Given the description of an element on the screen output the (x, y) to click on. 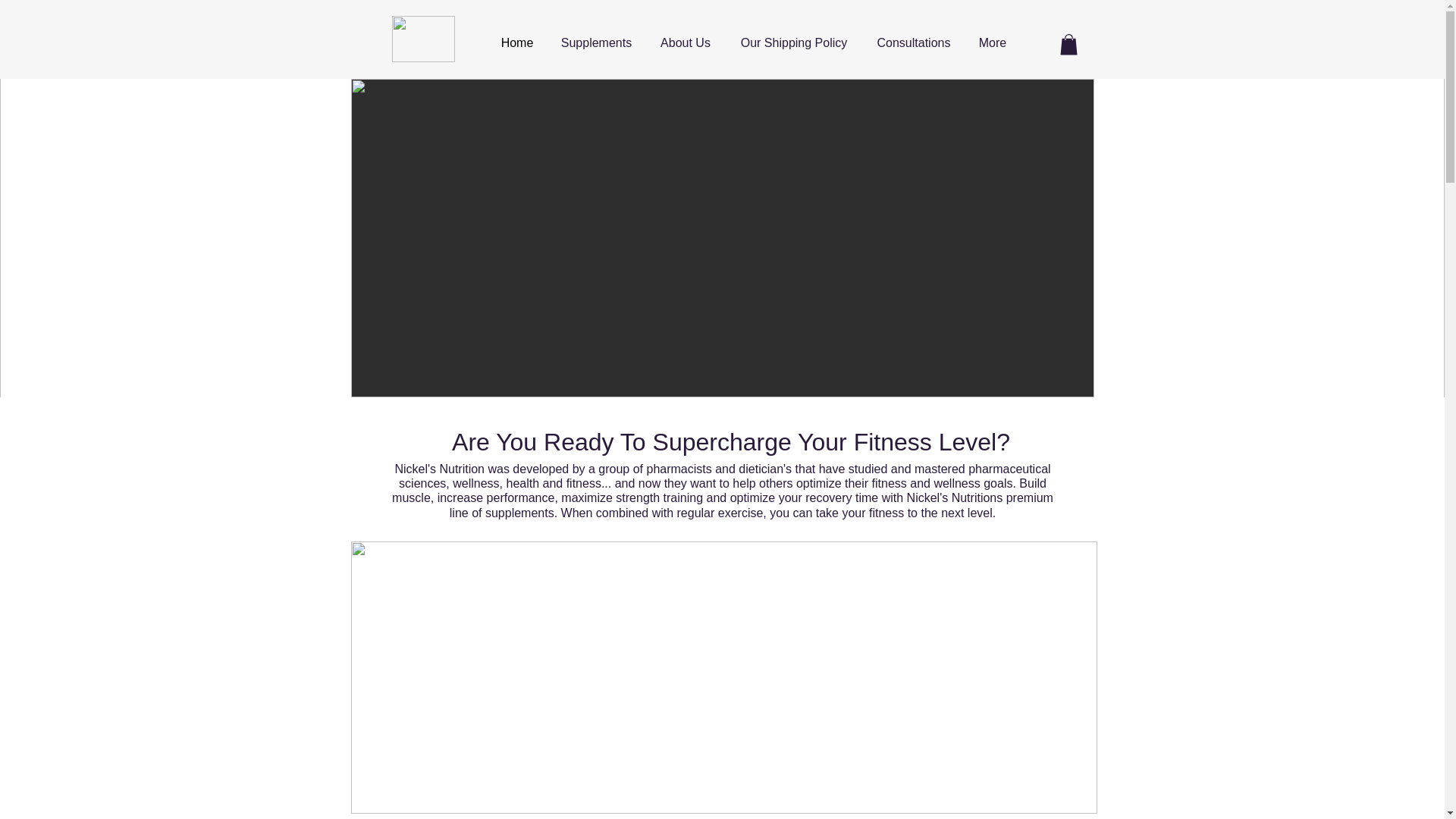
Supplements (596, 43)
Consultations (914, 43)
About Us (685, 43)
Home (516, 43)
Our Shipping Policy (793, 43)
